Given the description of an element on the screen output the (x, y) to click on. 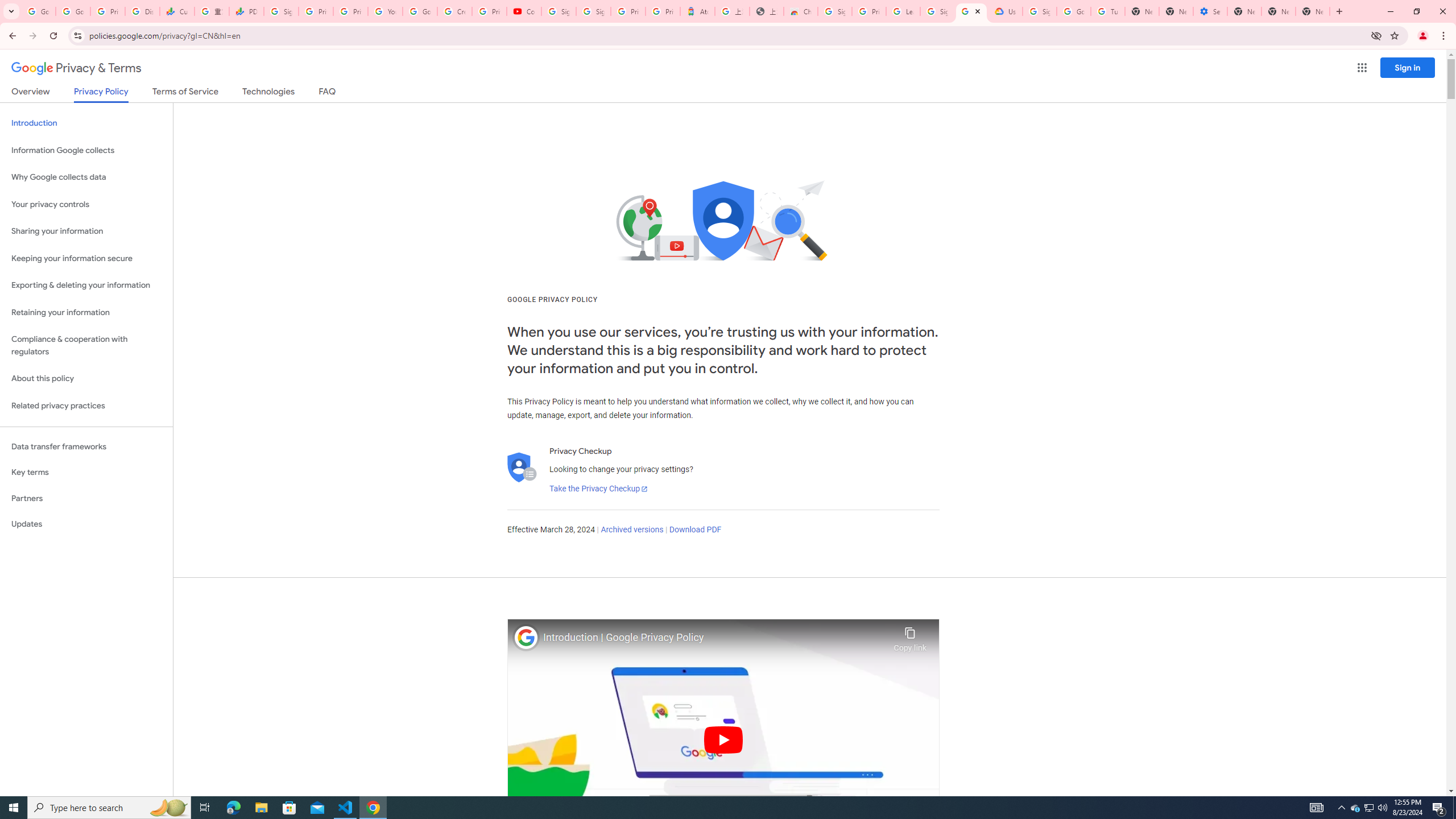
Settings - Addresses and more (1209, 11)
Sign in - Google Accounts (281, 11)
Play (723, 739)
Sign in - Google Accounts (557, 11)
Key terms (86, 472)
Create your Google Account (454, 11)
Compliance & cooperation with regulators (86, 345)
Information Google collects (86, 150)
Download PDF (695, 529)
